Given the description of an element on the screen output the (x, y) to click on. 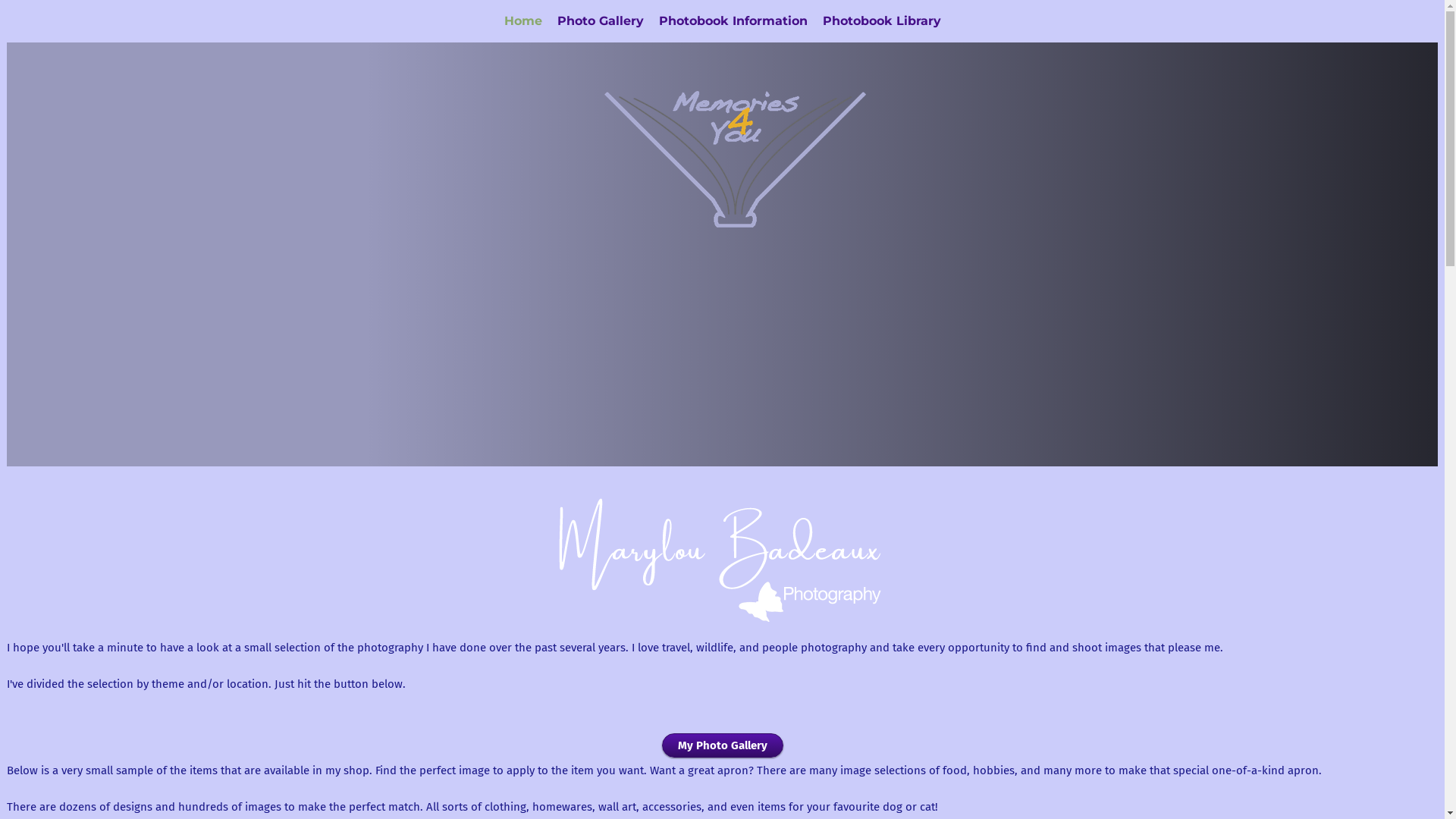
Photo Gallery Element type: text (599, 21)
Home Element type: text (522, 21)
Photobook Information Element type: text (732, 21)
Photobook Library Element type: text (881, 21)
My Photo Gallery Element type: text (721, 745)
